Given the description of an element on the screen output the (x, y) to click on. 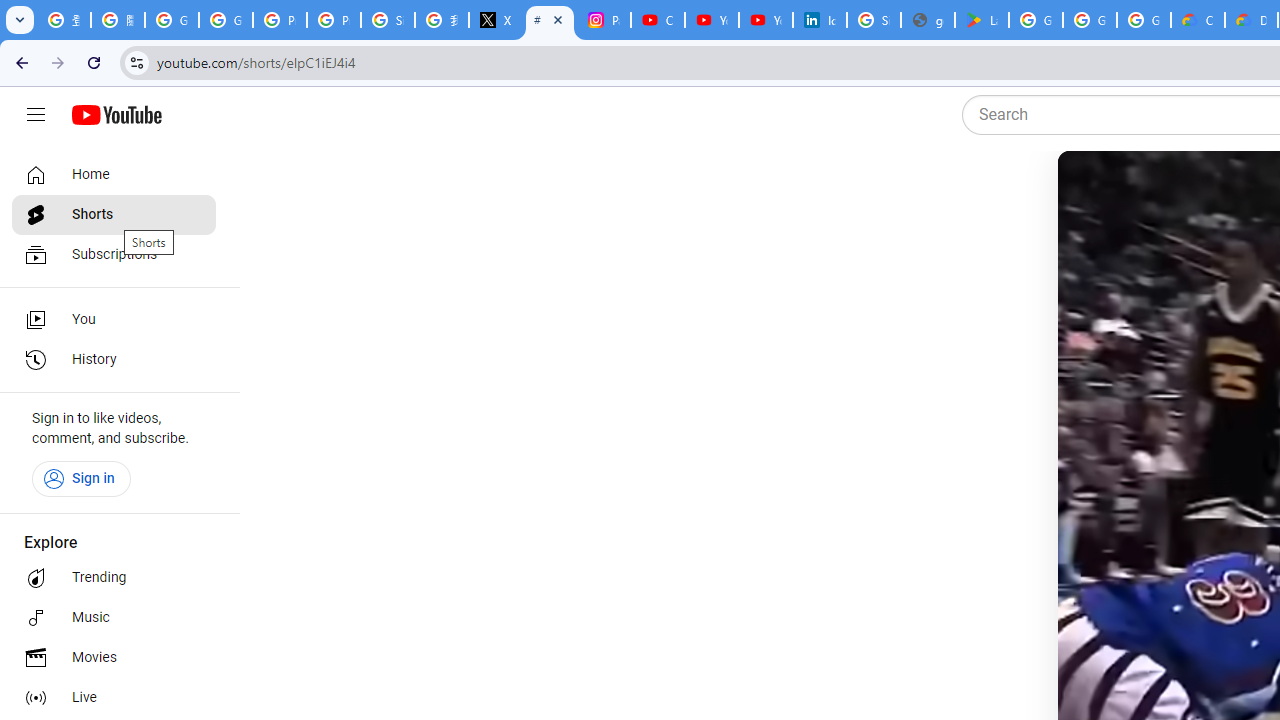
Home (113, 174)
YouTube Culture & Trends - YouTube Top 10, 2021 (765, 20)
Trending (113, 578)
X (495, 20)
Google Workspace - Specific Terms (1089, 20)
Mute (1154, 191)
Privacy Help Center - Policies Help (280, 20)
Identity verification via Persona | LinkedIn Help (819, 20)
